Given the description of an element on the screen output the (x, y) to click on. 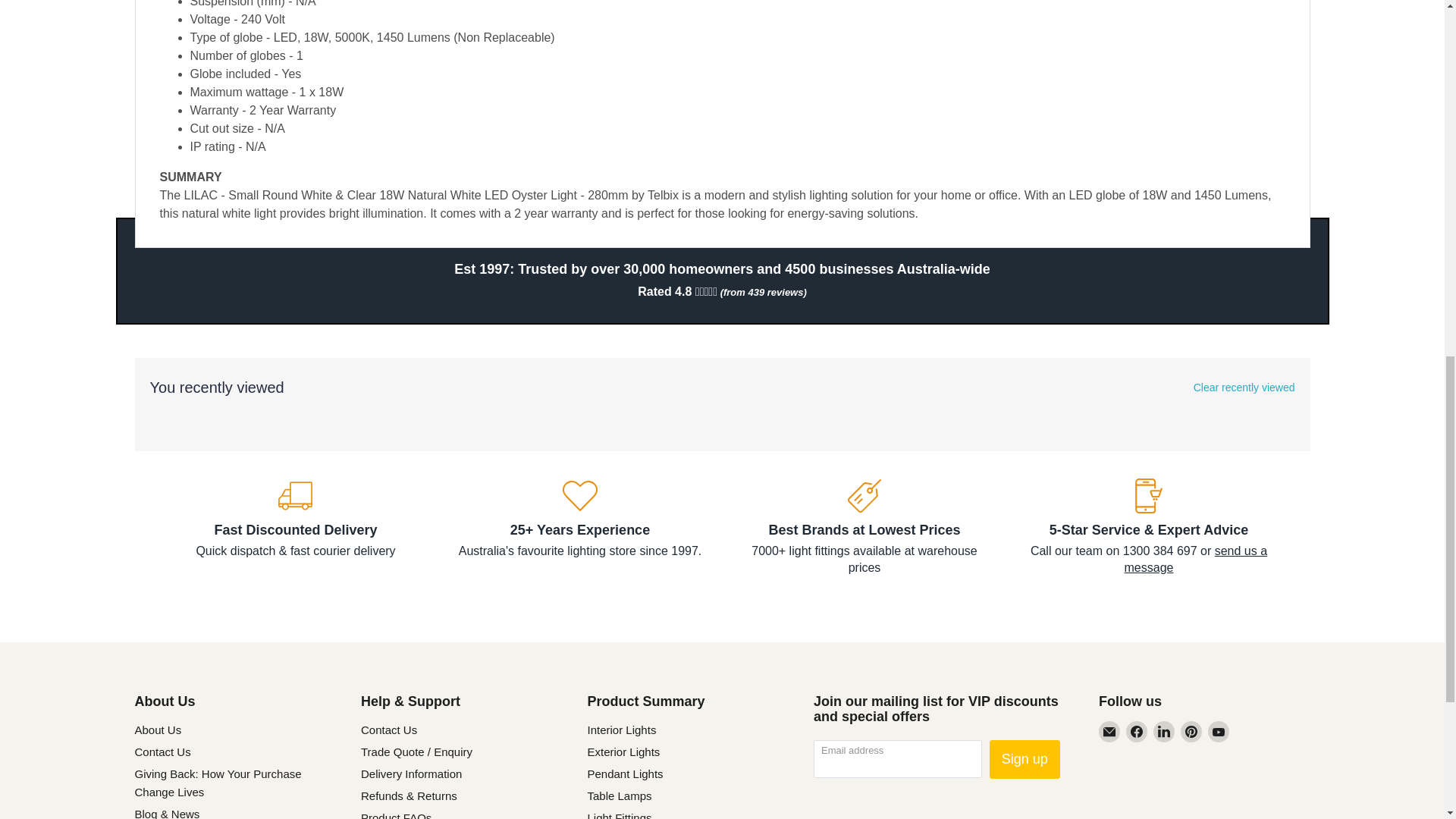
YouTube (1218, 731)
Email (1109, 731)
Pinterest (1191, 731)
LinkedIn (1163, 731)
Facebook (1136, 731)
